Given the description of an element on the screen output the (x, y) to click on. 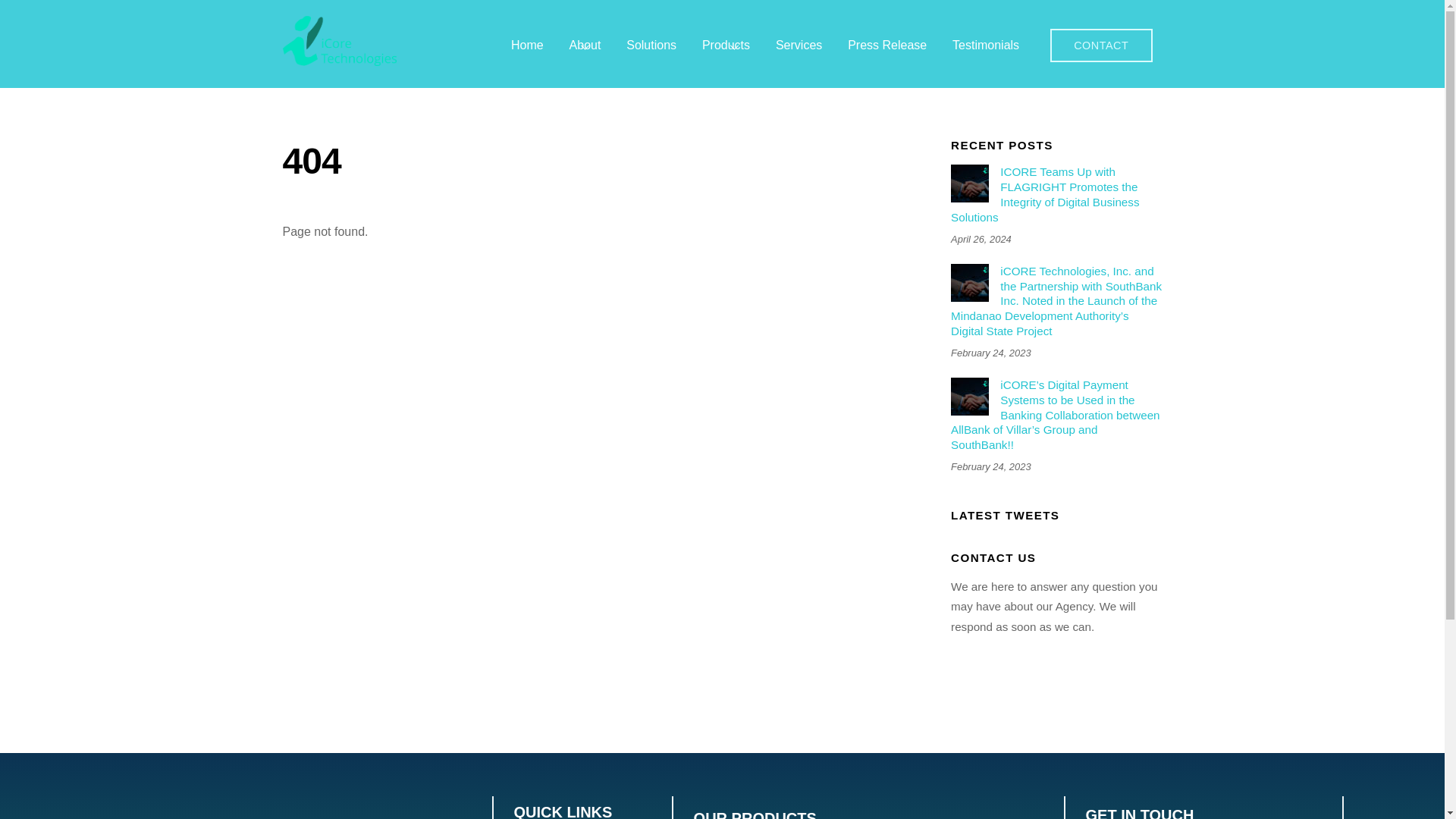
merging (969, 282)
Services (799, 45)
Testimonials (985, 45)
Press Release (886, 45)
Products (725, 45)
merging (969, 396)
merging (969, 183)
iCore Technologies (339, 58)
